Given the description of an element on the screen output the (x, y) to click on. 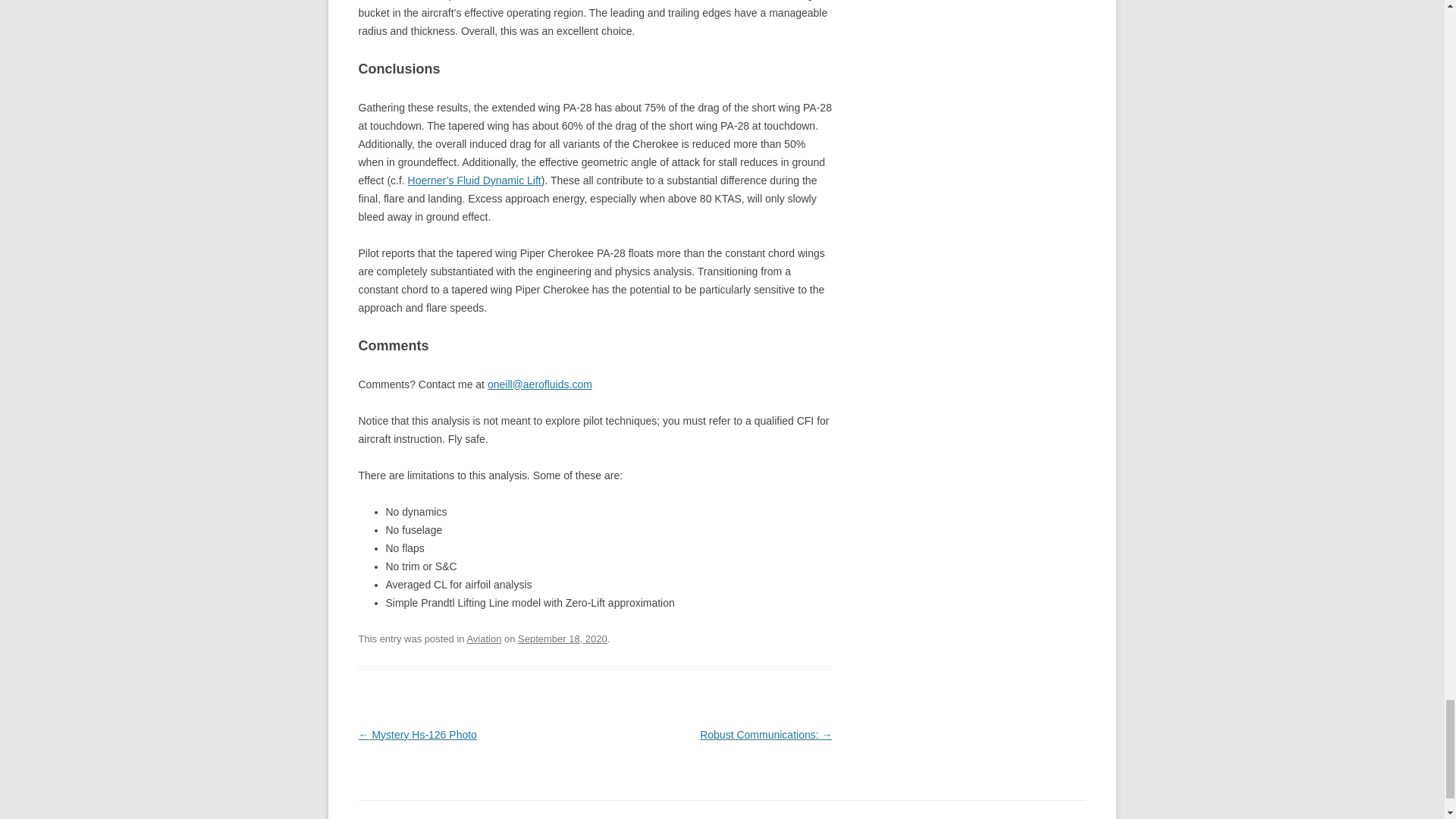
9:38 am (562, 638)
Aviation (482, 638)
September 18, 2020 (562, 638)
